Given the description of an element on the screen output the (x, y) to click on. 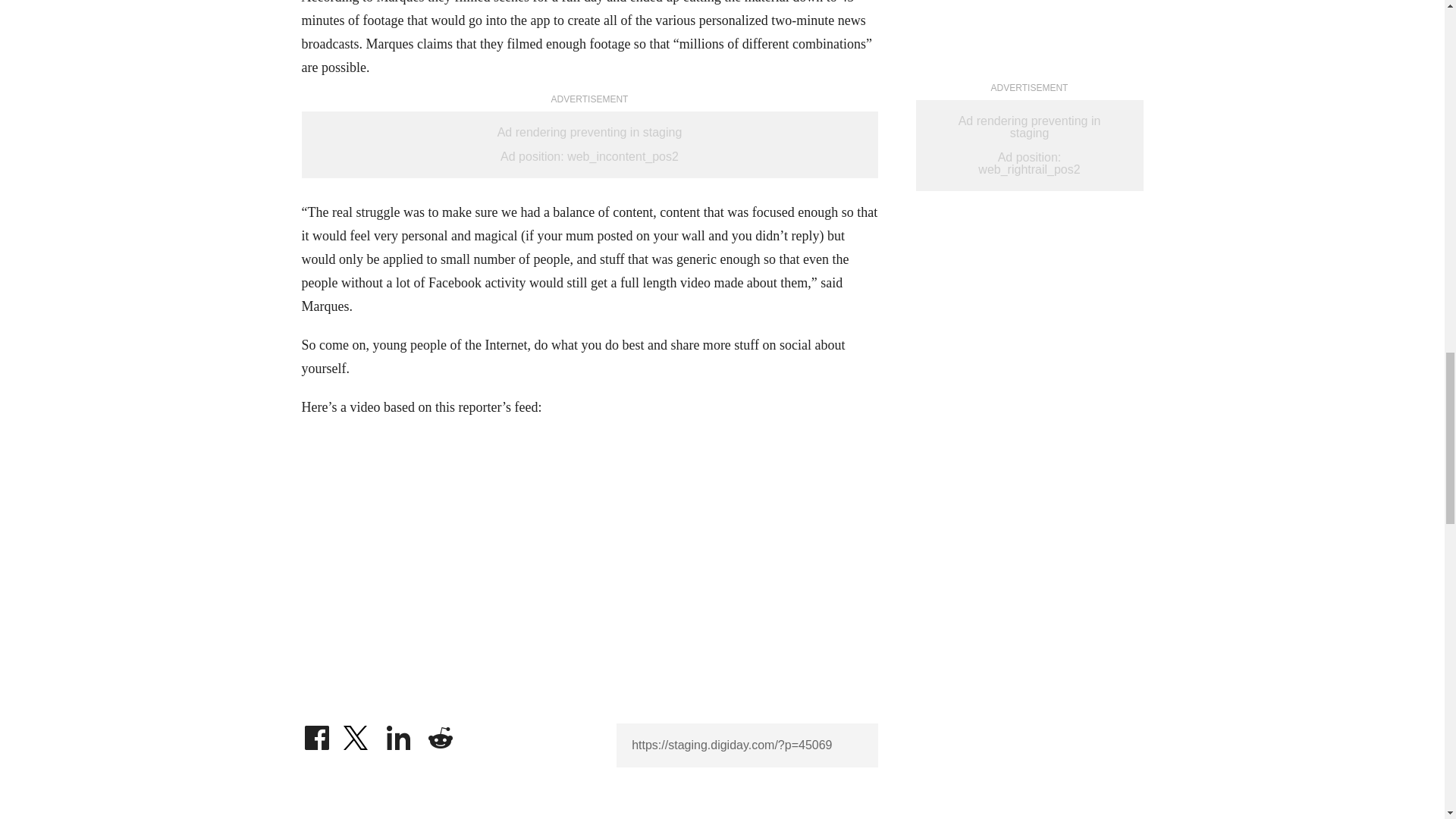
Share on LinkedIn (398, 734)
Share on Reddit (440, 734)
Share on Twitter (357, 734)
Share on Facebook (316, 734)
